Given the description of an element on the screen output the (x, y) to click on. 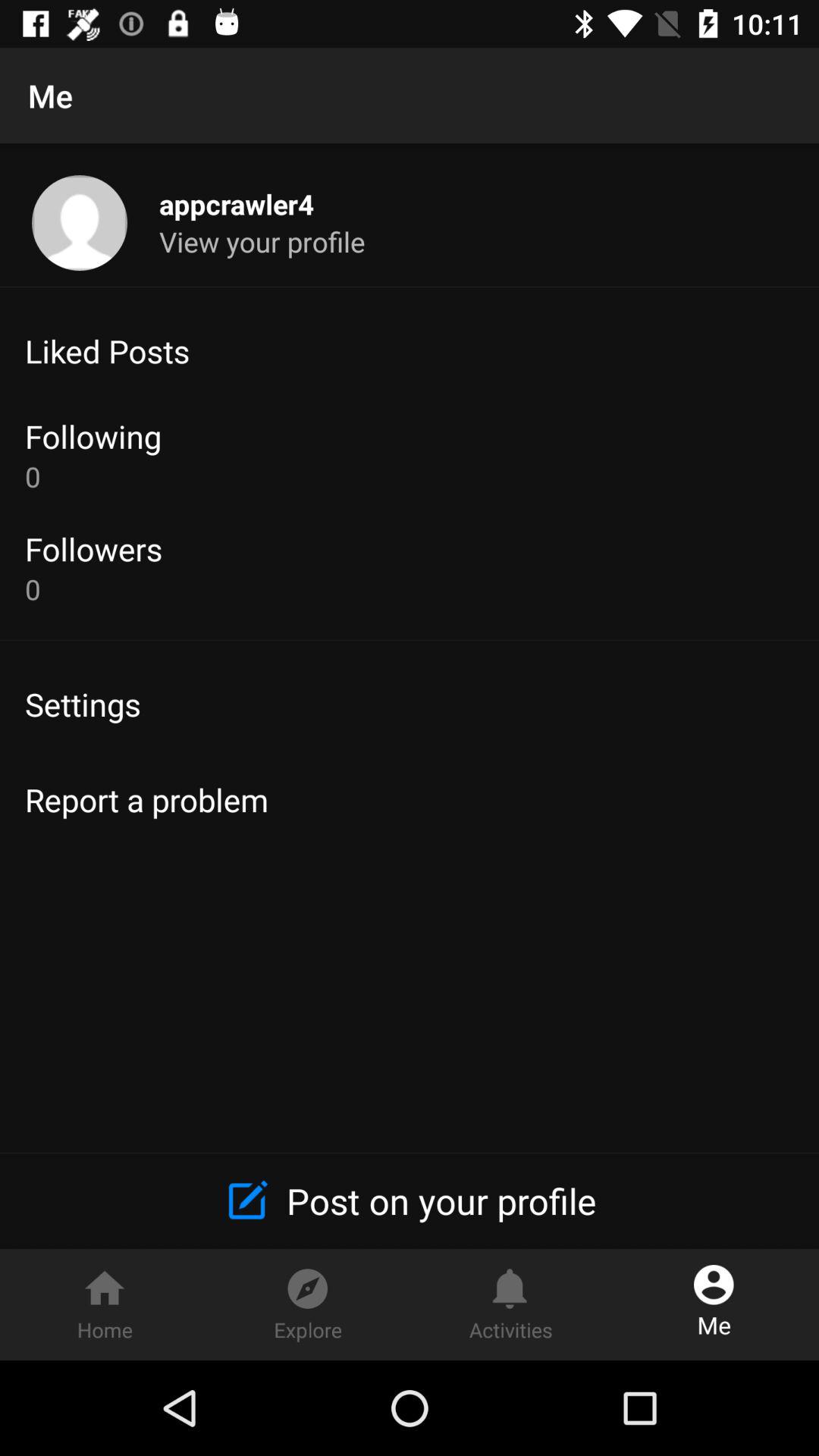
click on the icon above me at the bottom (713, 1278)
